Given the description of an element on the screen output the (x, y) to click on. 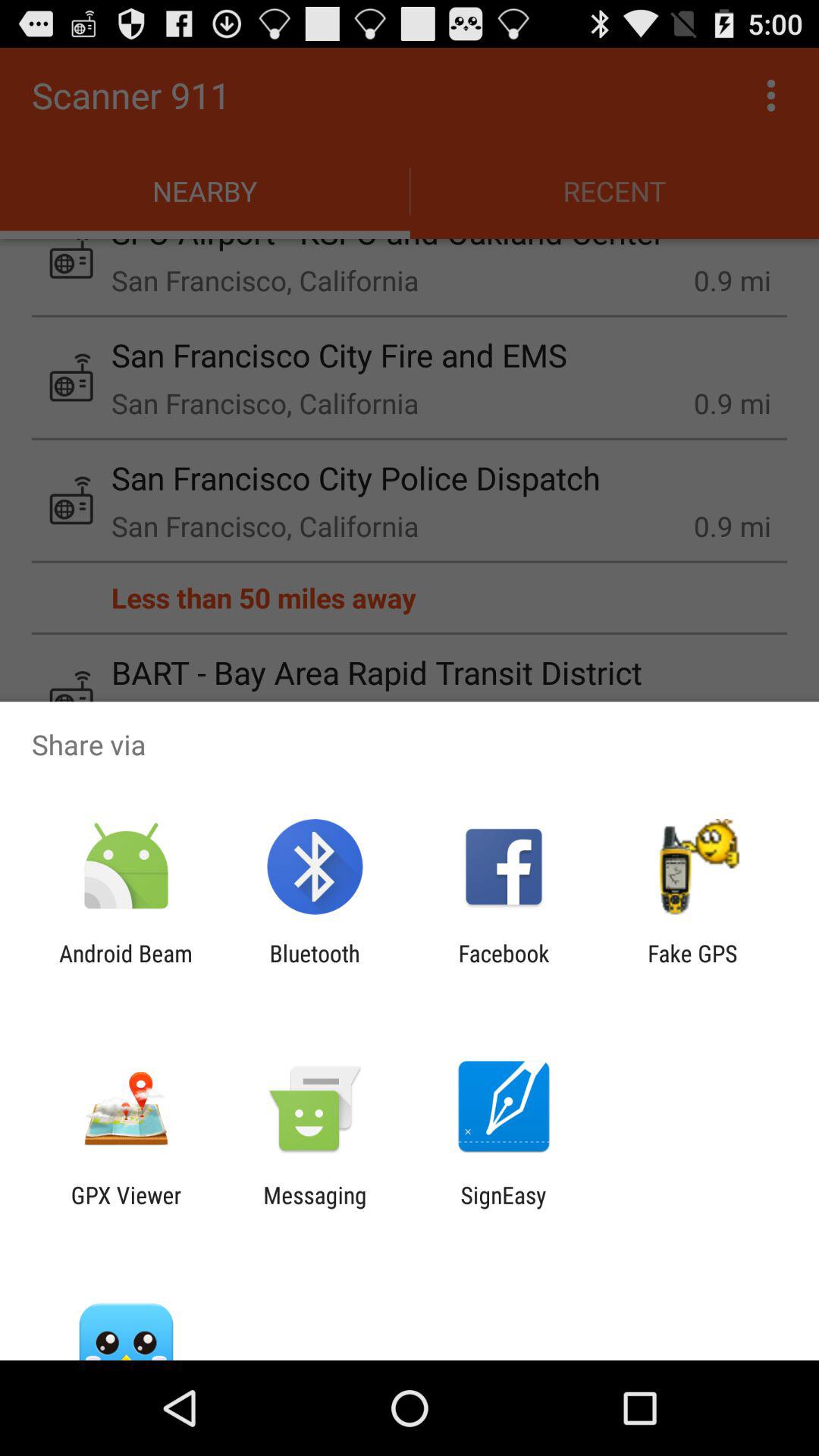
choose the bluetooth item (314, 966)
